Given the description of an element on the screen output the (x, y) to click on. 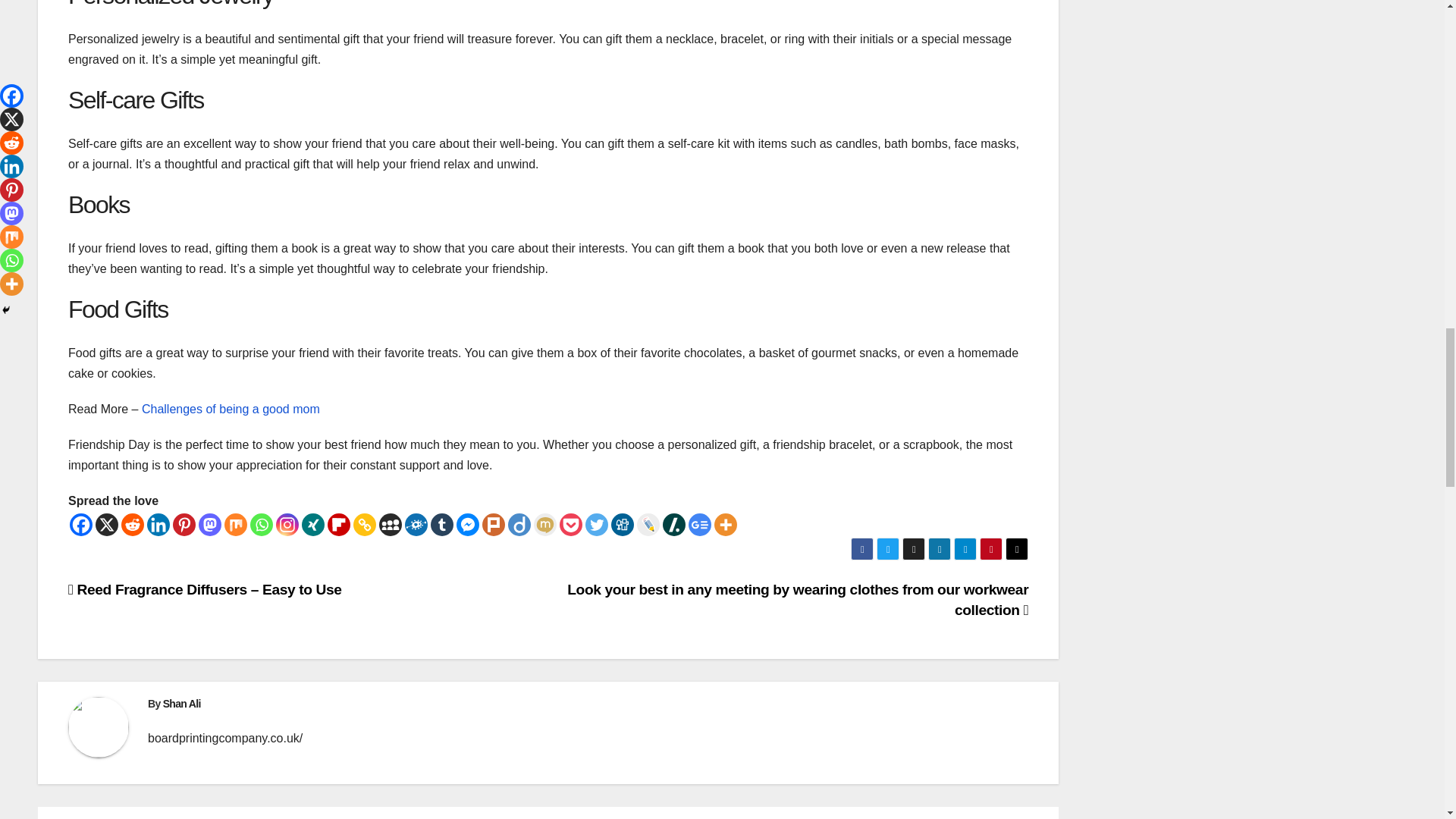
X (106, 524)
Pinterest (184, 524)
Mastodon (209, 524)
Facebook (81, 524)
xing (312, 524)
Mix (235, 524)
Whatsapp (261, 524)
Reddit (132, 524)
Instagram (287, 524)
Linkedin (158, 524)
